Given the description of an element on the screen output the (x, y) to click on. 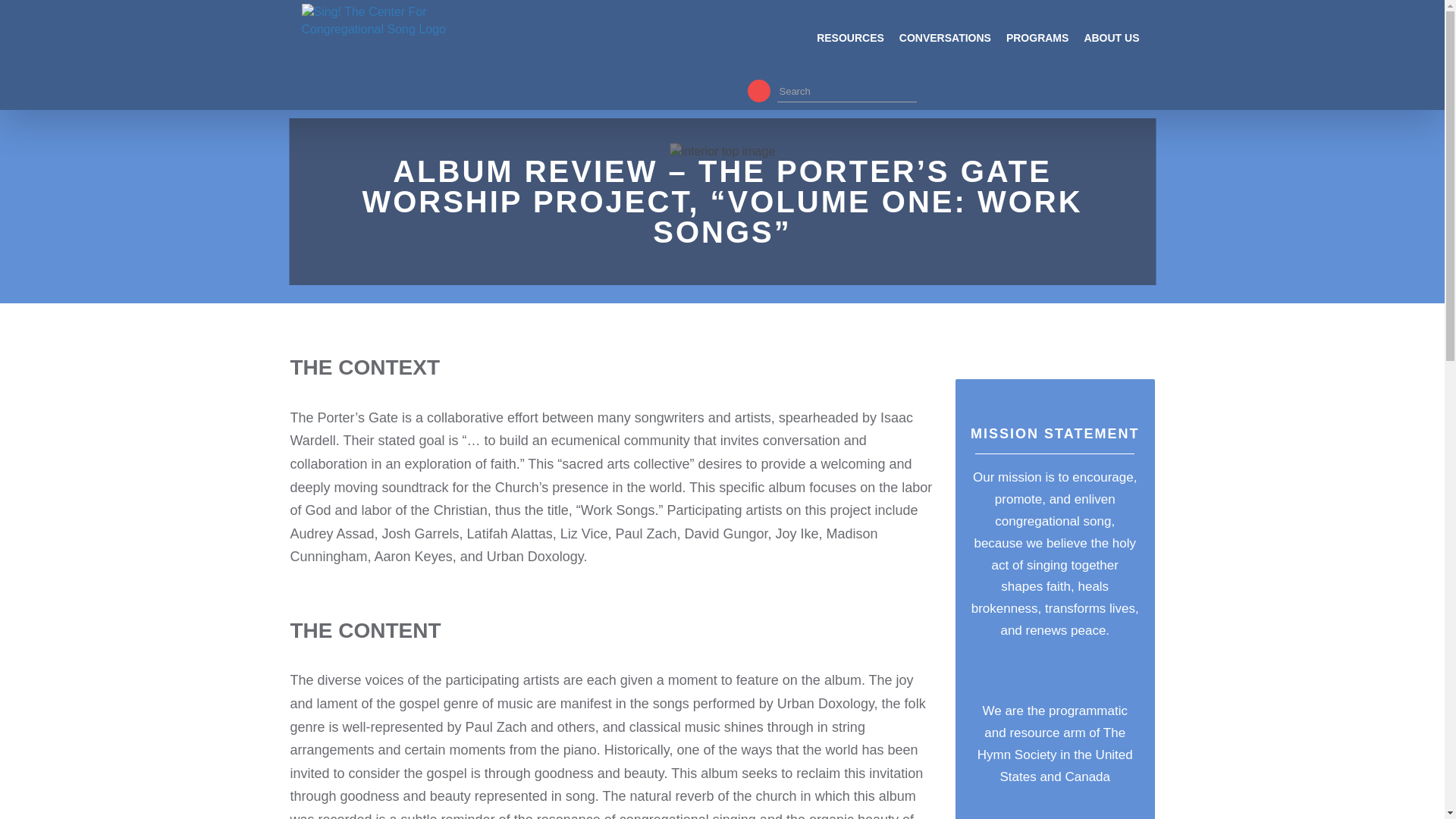
Resources (857, 41)
Programs (1044, 41)
CONVERSATIONS (952, 41)
Conversations (952, 41)
PROGRAMS (1044, 41)
ABOUT US (1118, 41)
RESOURCES (857, 41)
